Given the description of an element on the screen output the (x, y) to click on. 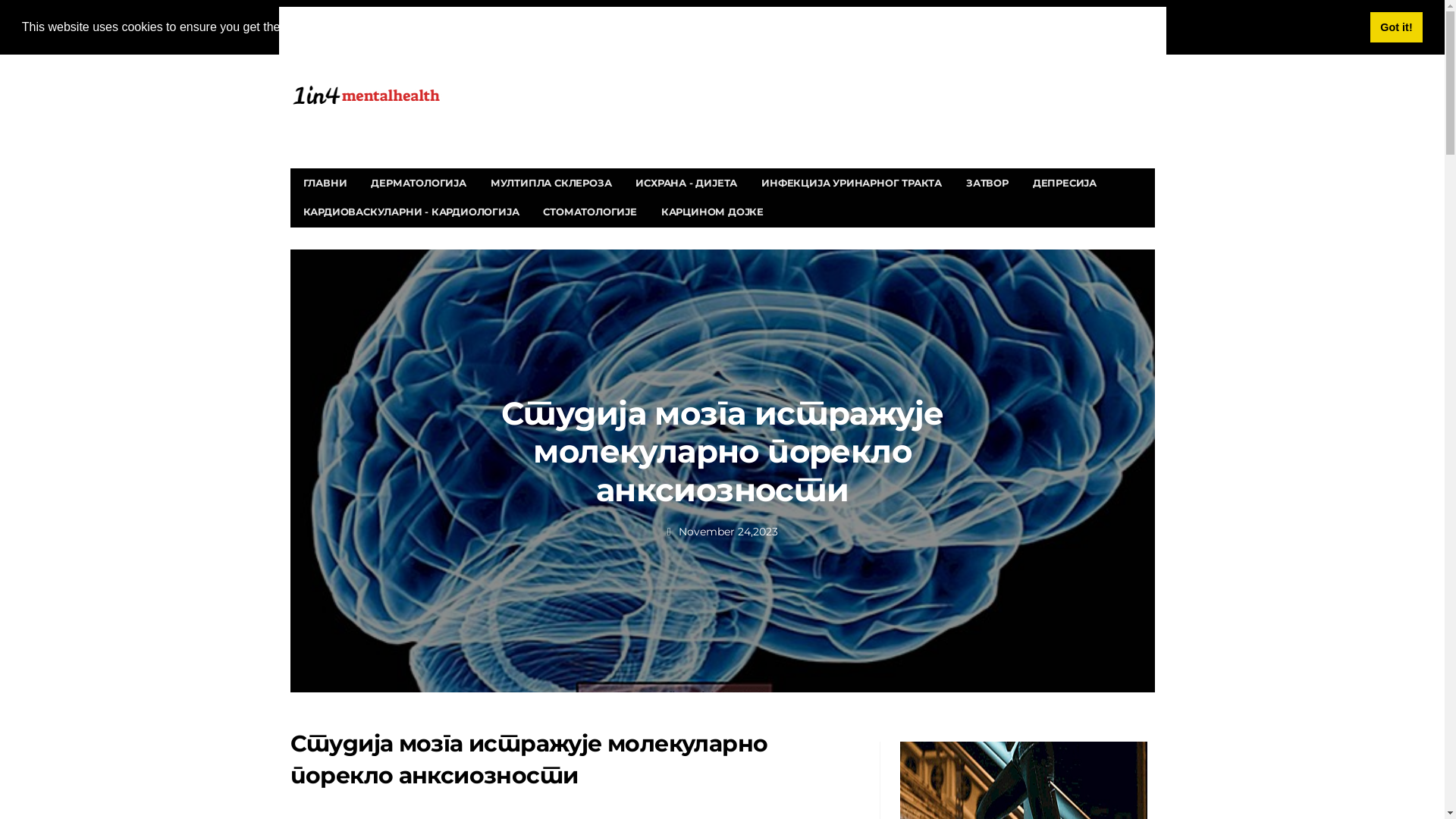
Learn more Element type: text (491, 26)
Got it! Element type: text (1396, 27)
